Given the description of an element on the screen output the (x, y) to click on. 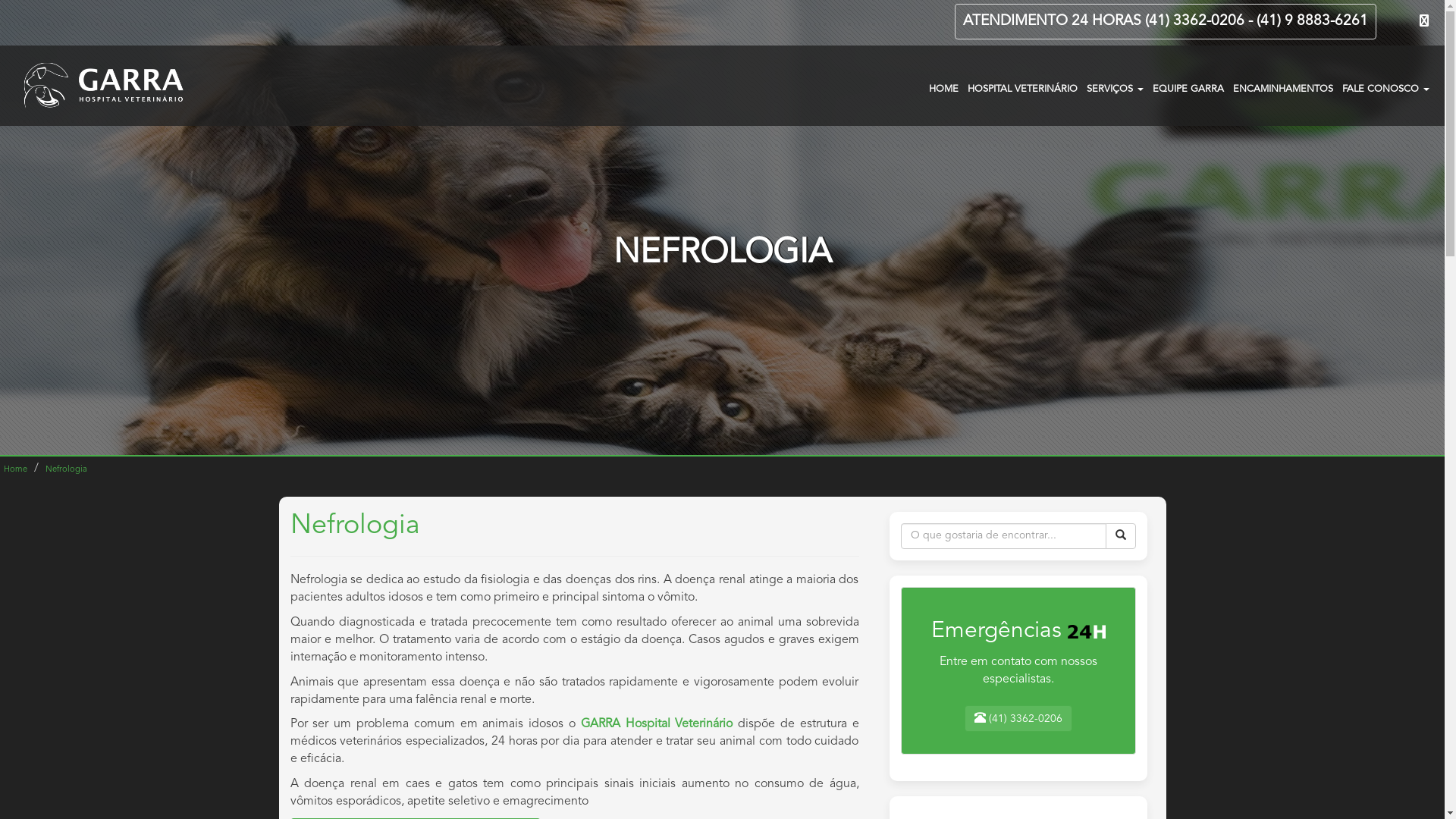
ENCAMINHAMENTOS Element type: text (1282, 87)
(41) 3362-0206 Element type: text (1018, 718)
Go Element type: text (1120, 536)
O que gostaria de encontrar... Element type: hover (1003, 536)
FALE CONOSCO Element type: text (1385, 87)
Follow us on facebook Element type: hover (1423, 20)
Nefrologia Element type: text (66, 469)
EQUIPE GARRA Element type: text (1187, 87)
Home Element type: text (15, 469)
NEFROLOGIA Element type: text (721, 253)
Nefrologia Element type: hover (722, 227)
HOME Element type: text (943, 87)
ATENDIMENTO 24 HORAS (41) 3362-0206 - (41) 9 8883-6261 Element type: text (1165, 21)
